Given the description of an element on the screen output the (x, y) to click on. 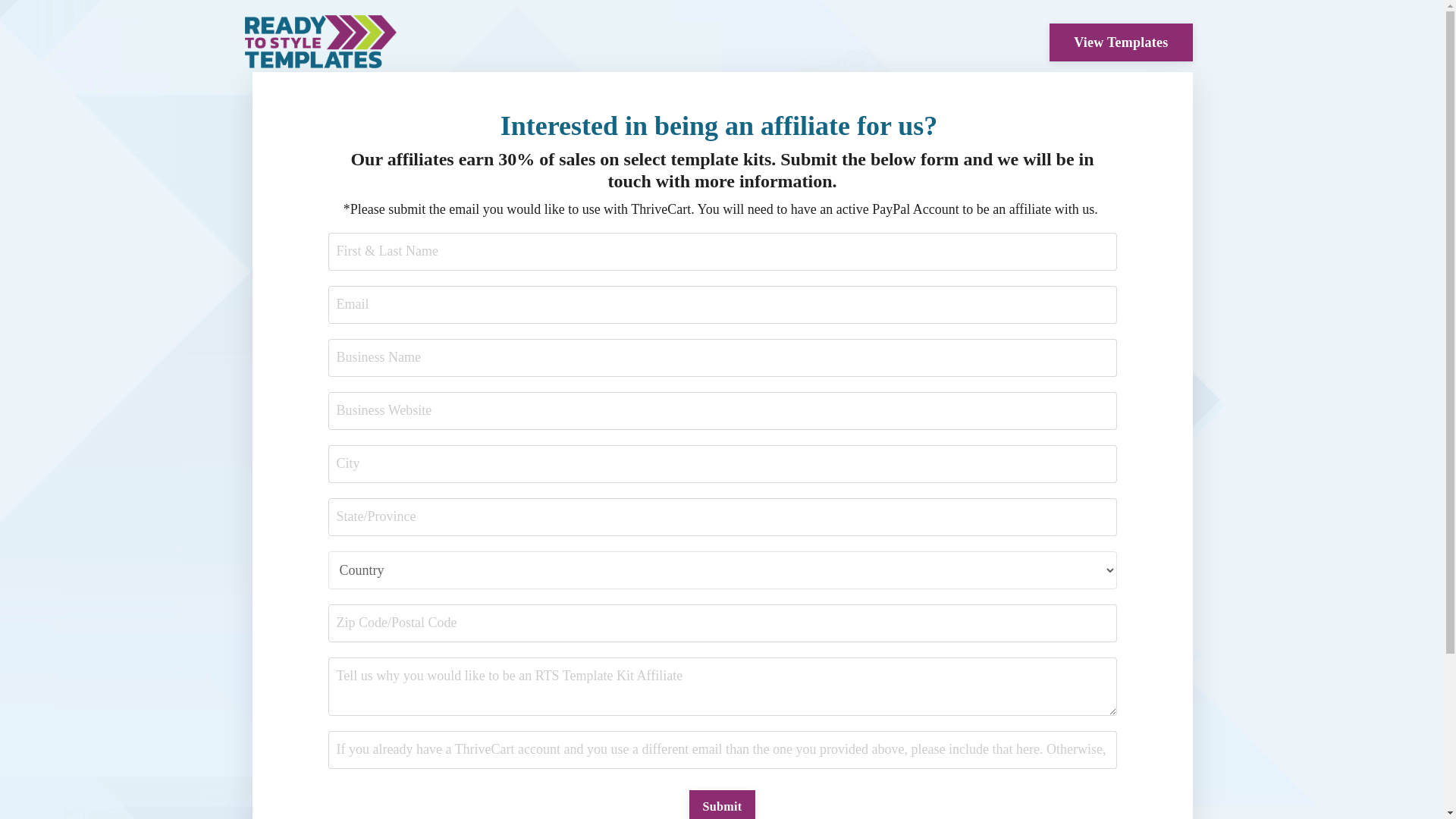
Submit (721, 804)
View Templates (1120, 42)
